Given the description of an element on the screen output the (x, y) to click on. 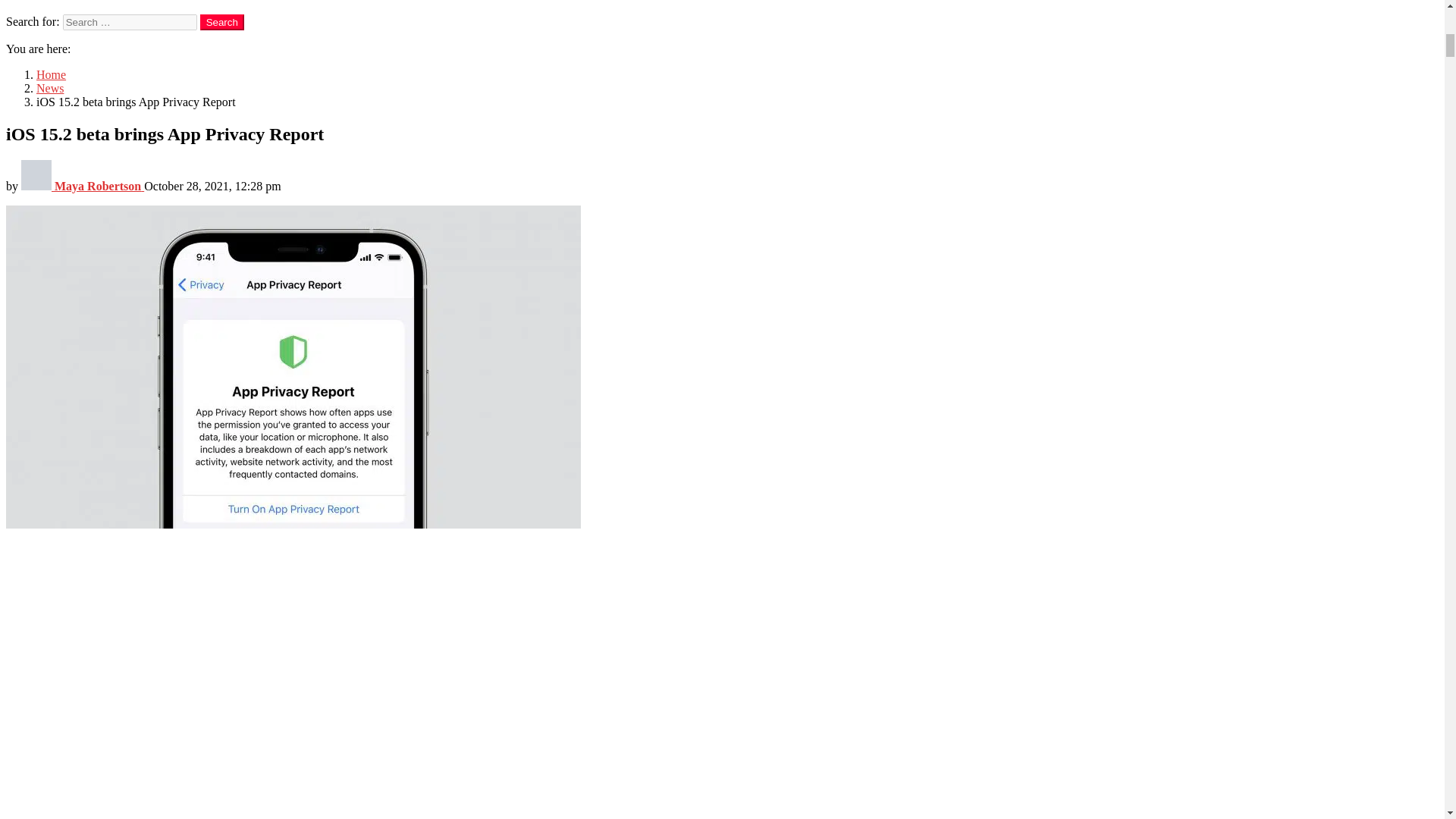
Posts by Maya Robertson (82, 185)
Search for: (129, 22)
